Given the description of an element on the screen output the (x, y) to click on. 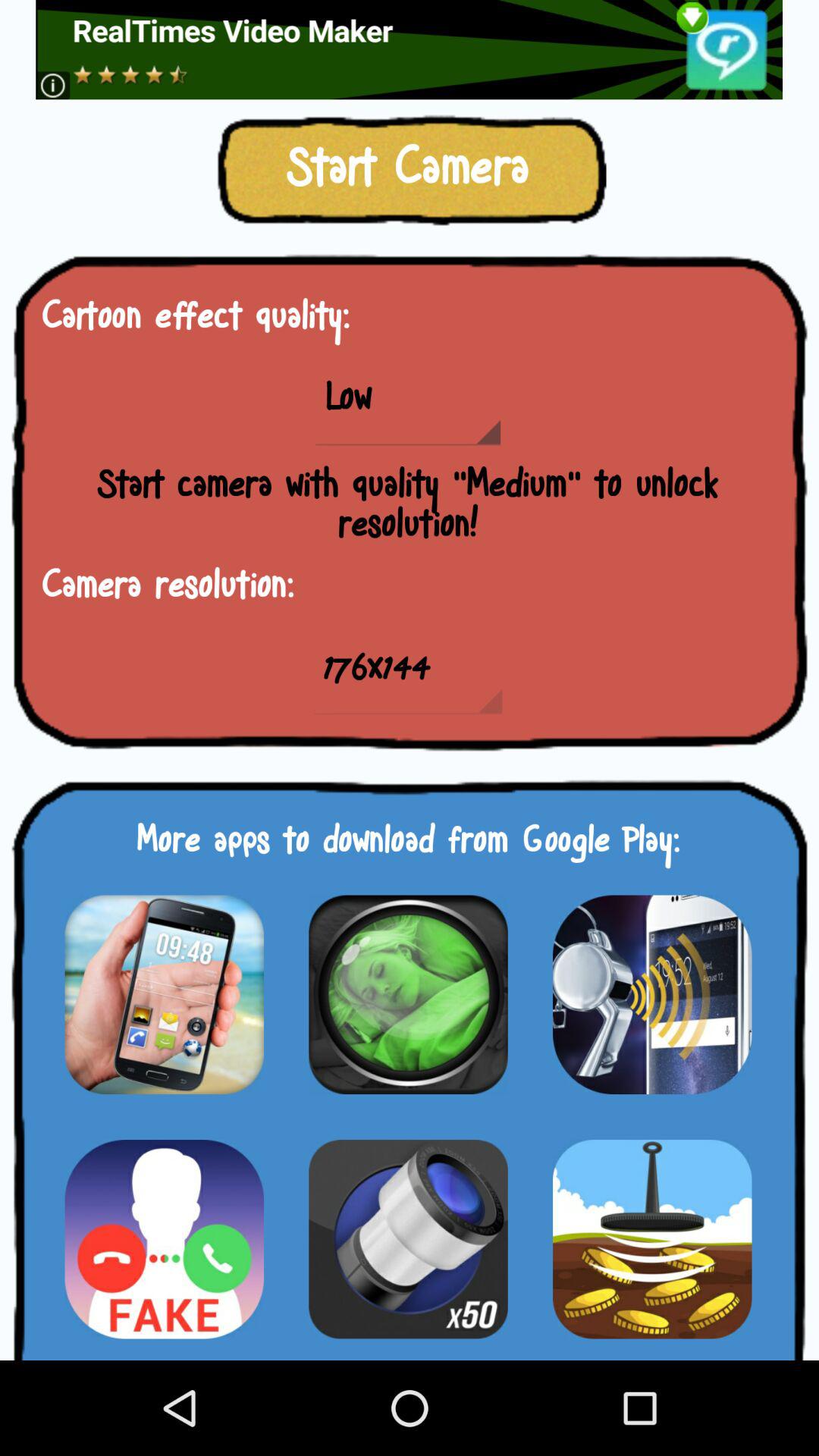
wifi (652, 994)
